Given the description of an element on the screen output the (x, y) to click on. 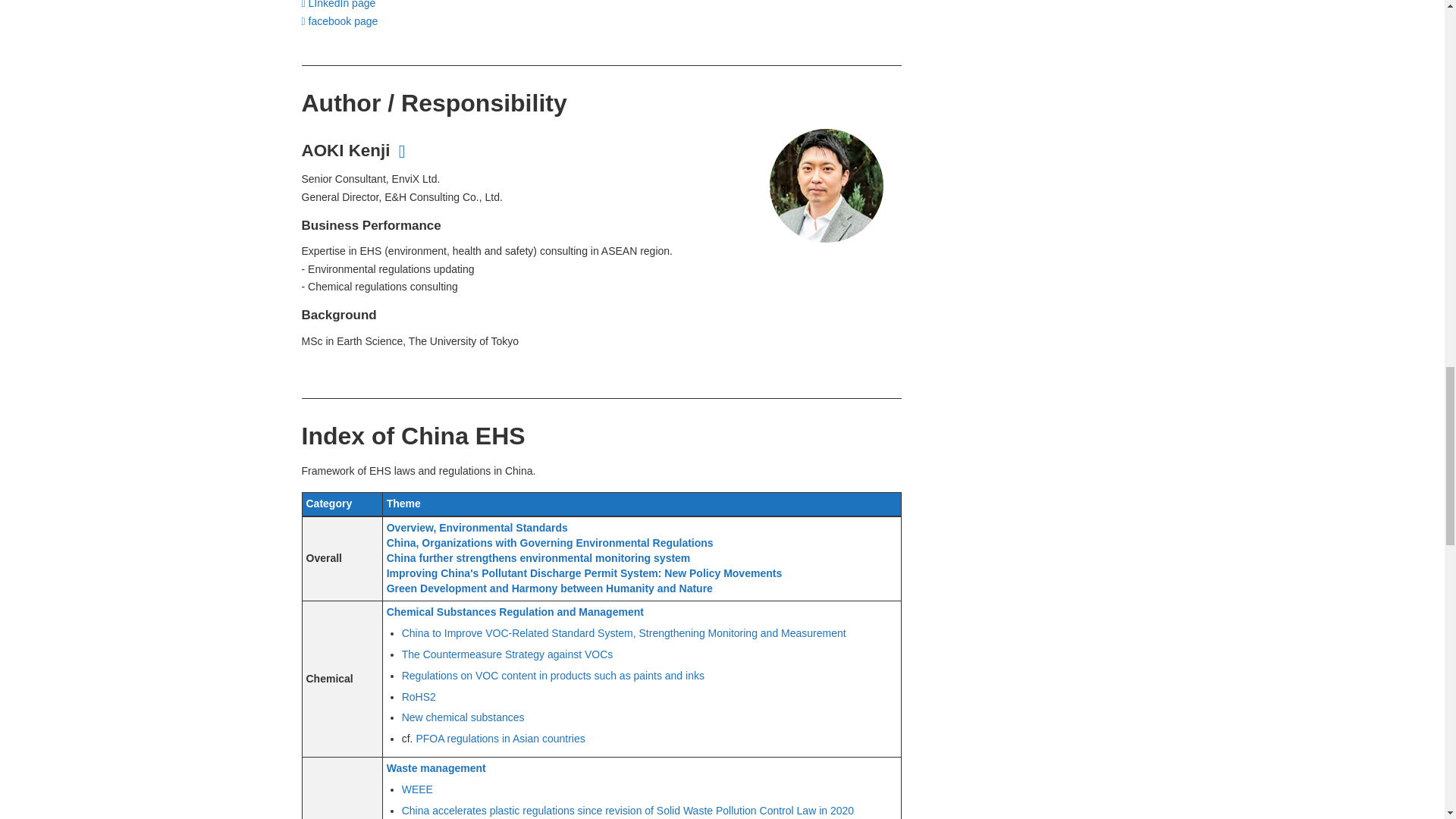
LInkedIn page (341, 4)
The Countermeasure Strategy against VOCs (506, 654)
facebook (341, 21)
LinkedIn (341, 4)
facebook page (341, 21)
Overview, Environmental Standards (477, 527)
Chemical Substances Regulation and Management (515, 612)
